Given the description of an element on the screen output the (x, y) to click on. 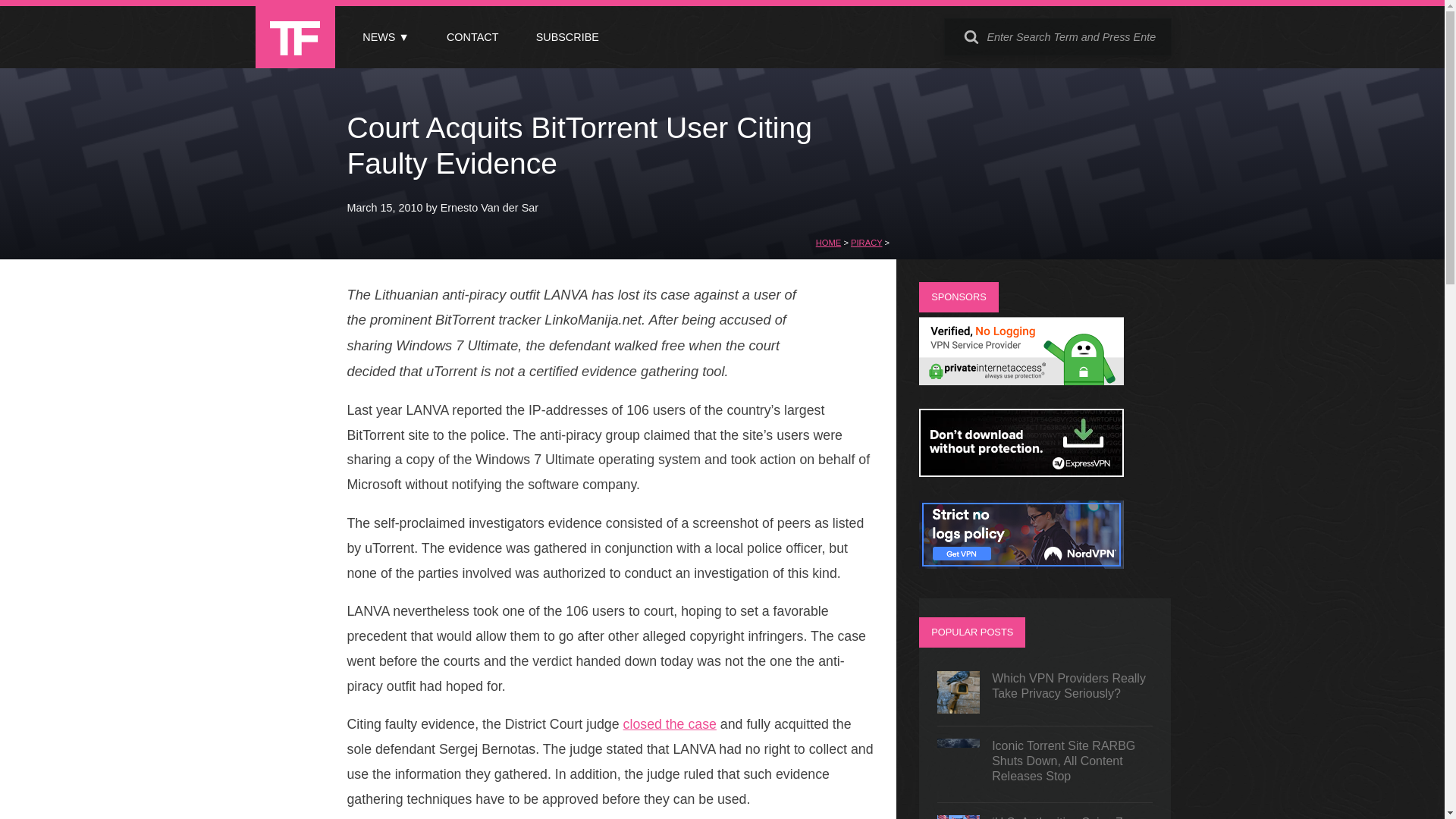
Go to TorrentFreak. (828, 242)
Go to the Piracy category archives. (866, 242)
Ernesto Van der Sar (489, 207)
Private Internet Access (1021, 380)
closed the case (669, 724)
Which VPN Providers Really Take Privacy Seriously? (1045, 691)
ExpressVPN (1021, 472)
PIRACY (866, 242)
CONTACT (471, 37)
SUBSCRIBE (566, 37)
HOME (828, 242)
